Given the description of an element on the screen output the (x, y) to click on. 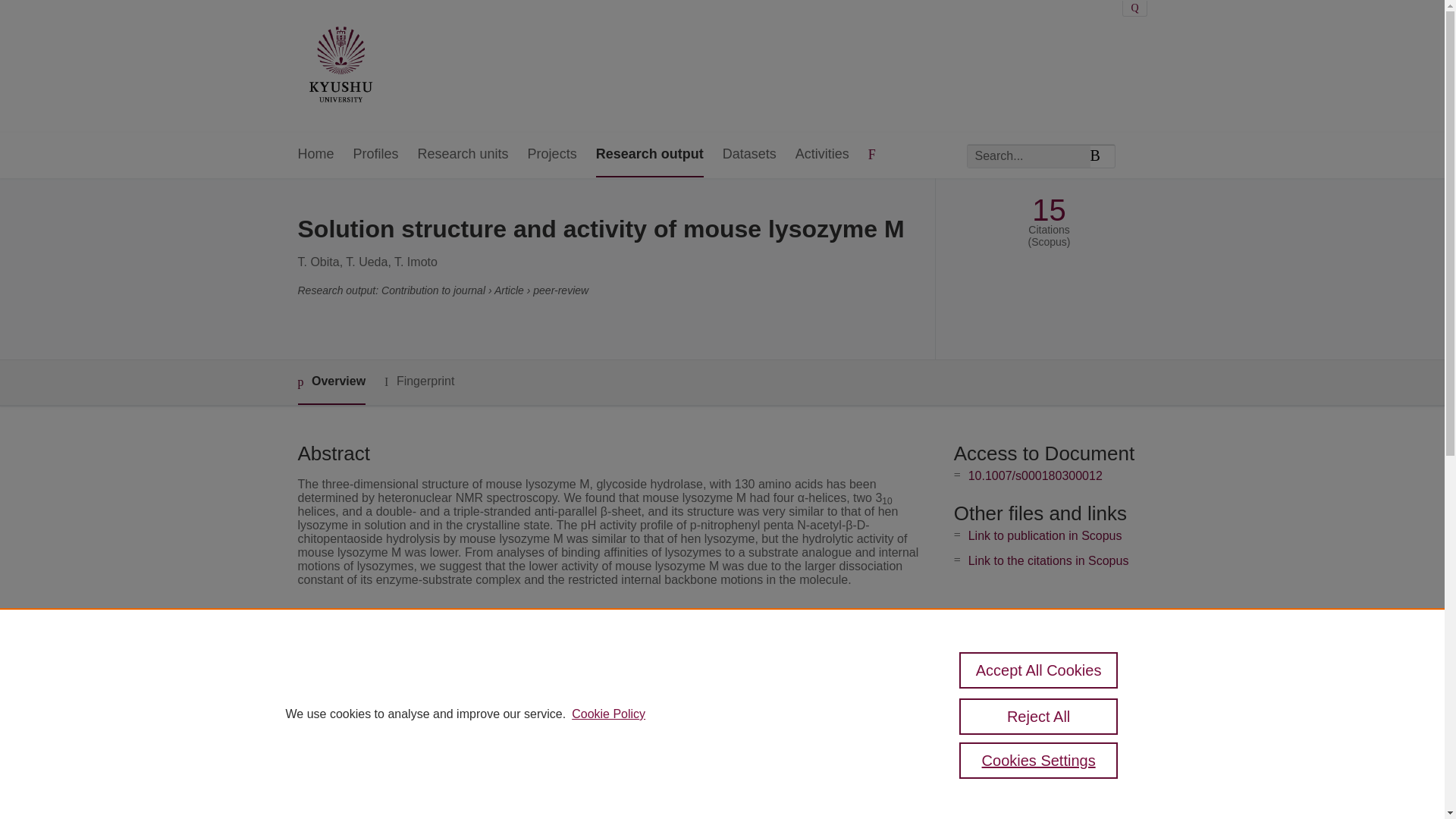
Projects (551, 154)
Research output (649, 154)
Link to publication in Scopus (1045, 535)
Cellular and Molecular Life Sciences (605, 670)
Overview (331, 382)
Research units (462, 154)
Activities (821, 154)
Datasets (749, 154)
Fingerprint (419, 381)
15 (1048, 210)
